Given the description of an element on the screen output the (x, y) to click on. 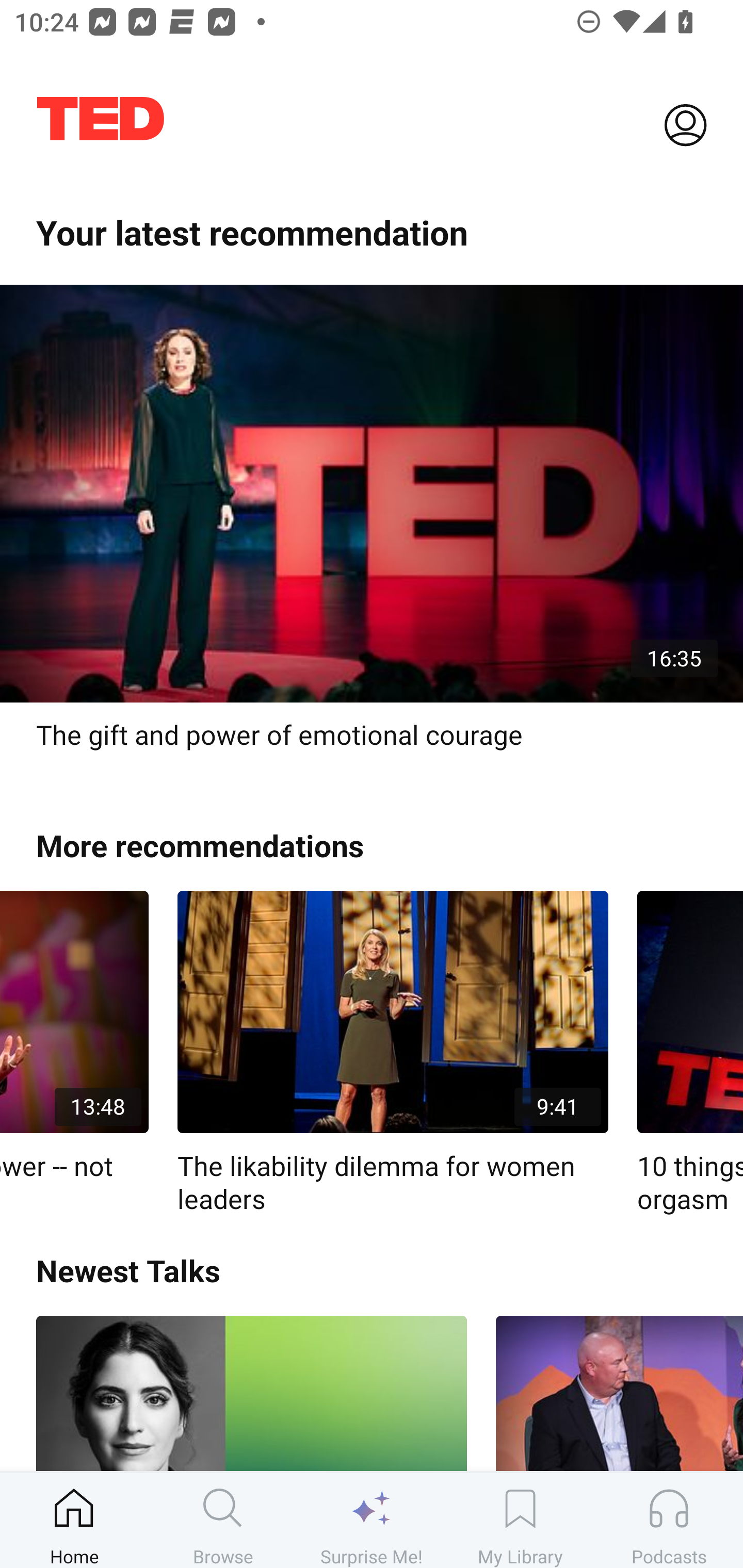
9:41 The likability dilemma for women leaders (392, 1053)
Home (74, 1520)
Browse (222, 1520)
Surprise Me! (371, 1520)
My Library (519, 1520)
Podcasts (668, 1520)
